Given the description of an element on the screen output the (x, y) to click on. 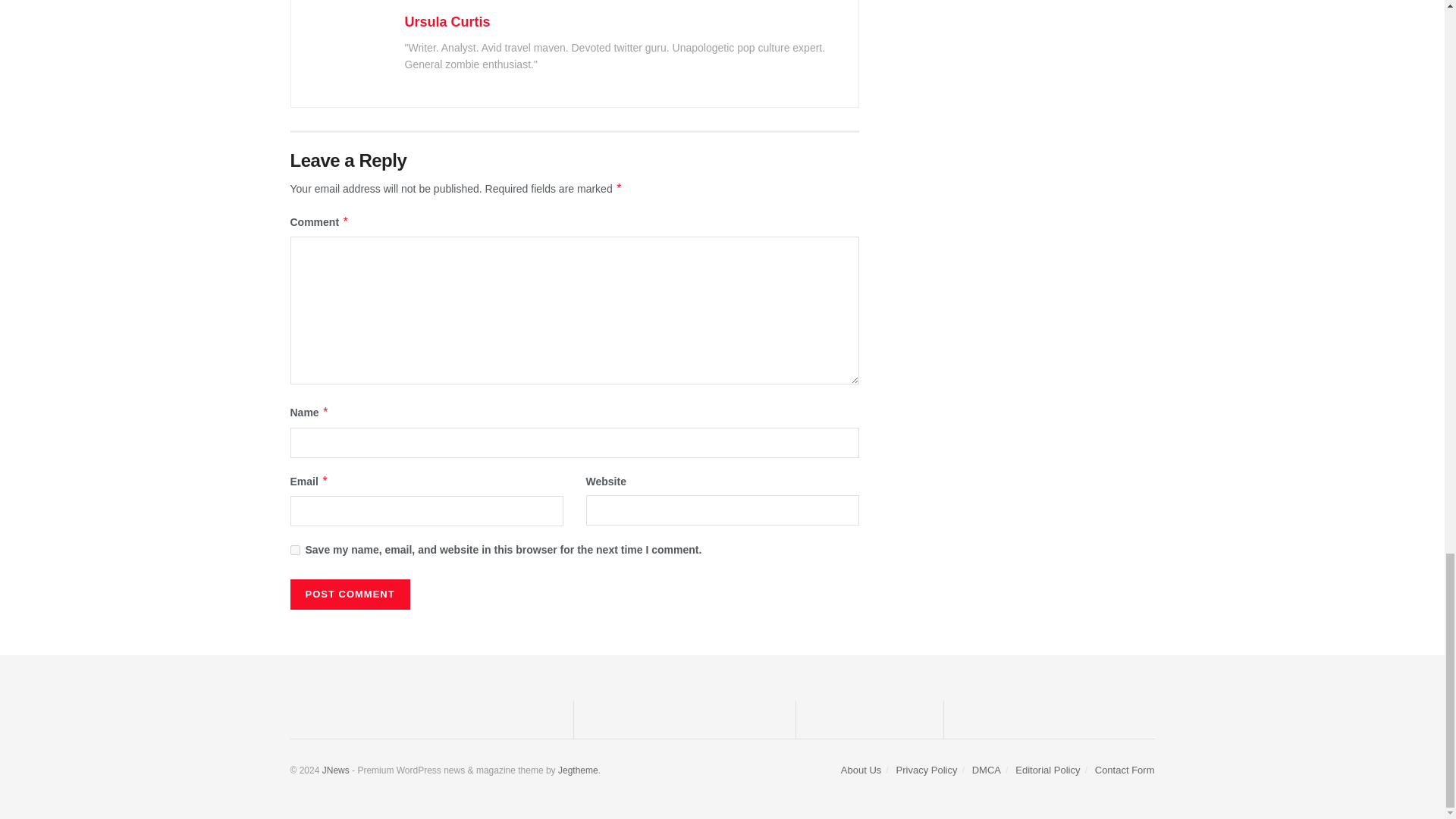
yes (294, 550)
Jegtheme (577, 769)
Post Comment (349, 594)
